Given the description of an element on the screen output the (x, y) to click on. 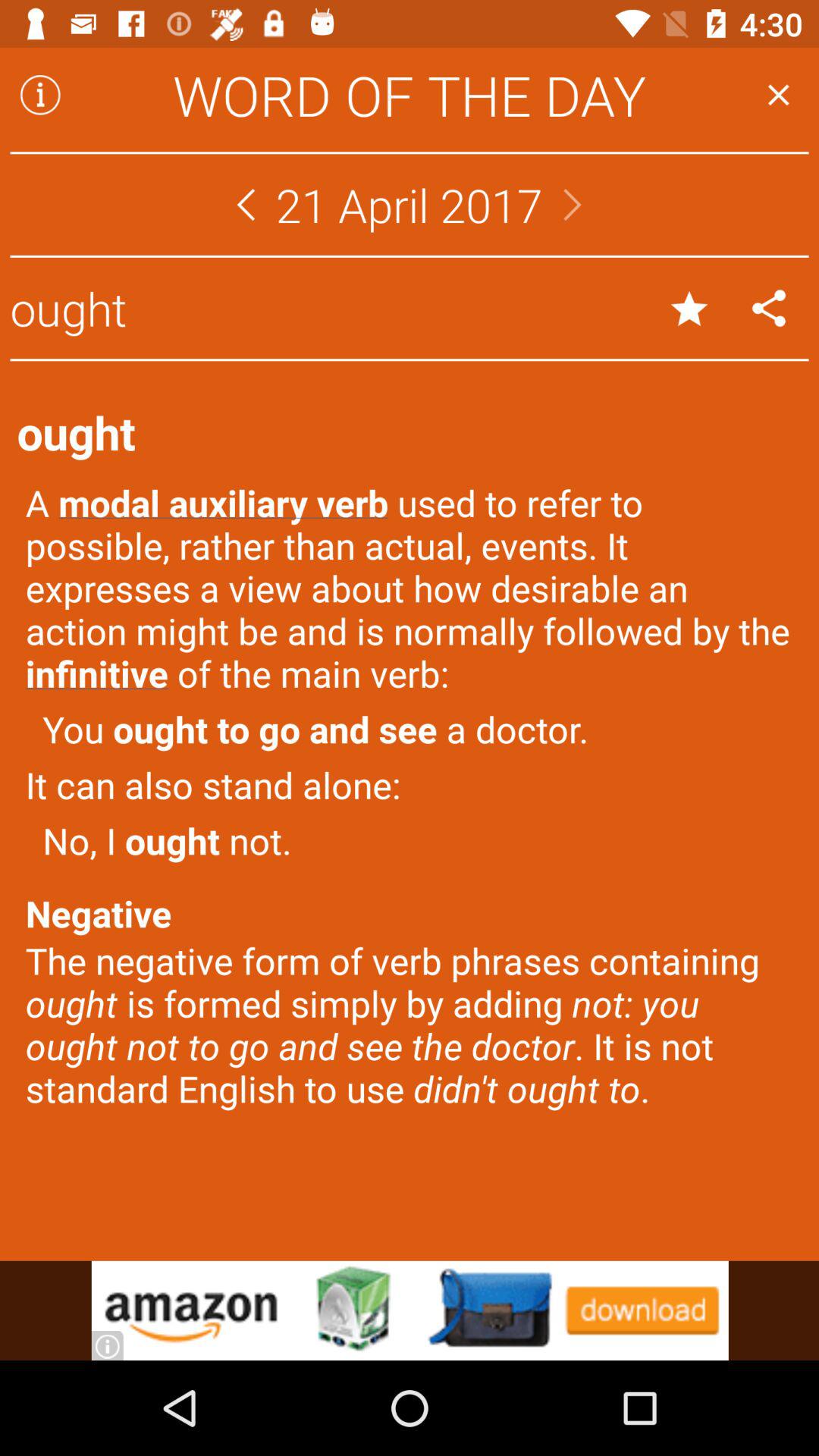
go back go to previous (245, 204)
